Given the description of an element on the screen output the (x, y) to click on. 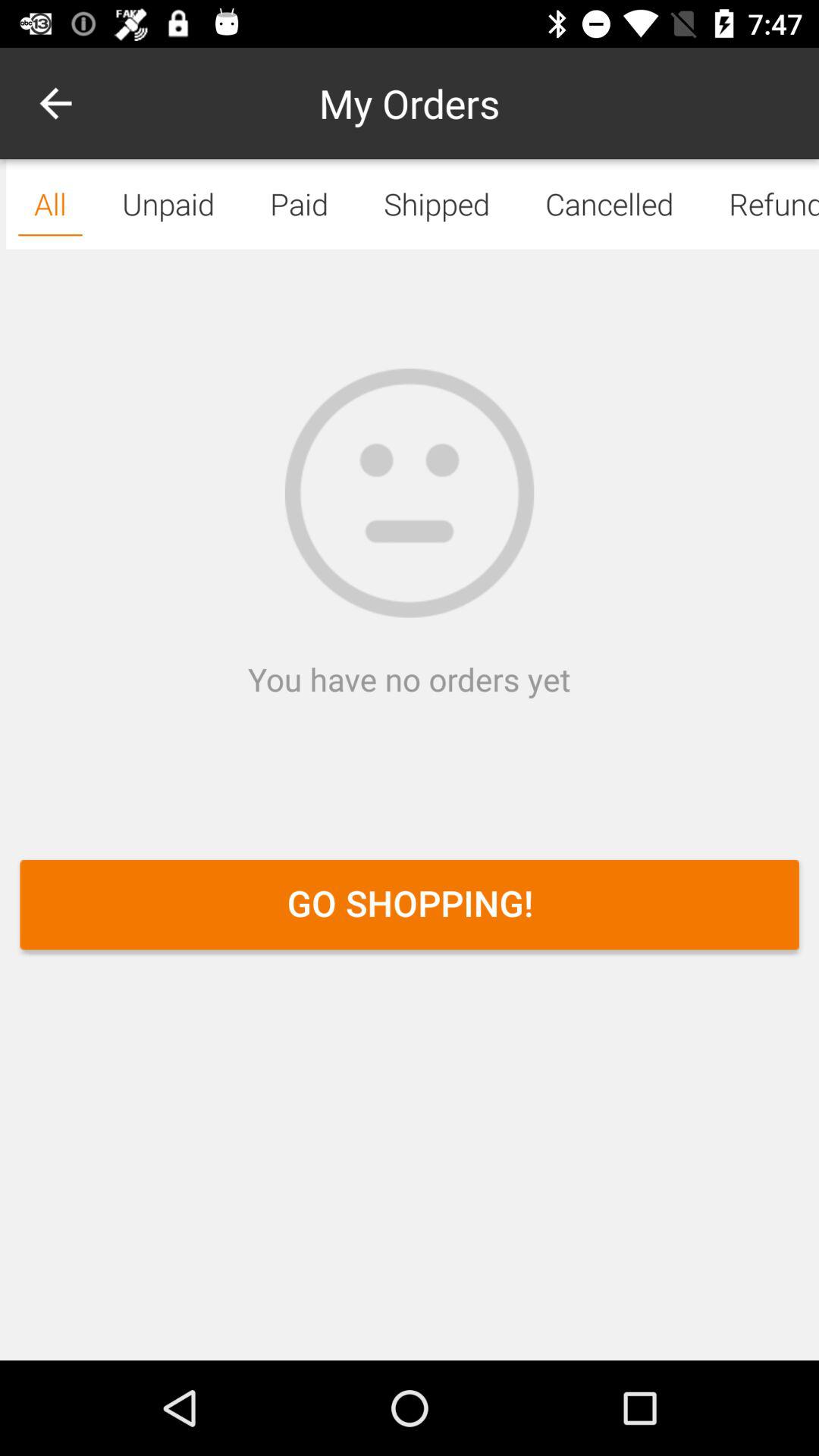
click on refund (760, 203)
select cancelled (609, 203)
click the text shipped (436, 203)
option right all option (168, 203)
click on the paid button (299, 203)
